Given the description of an element on the screen output the (x, y) to click on. 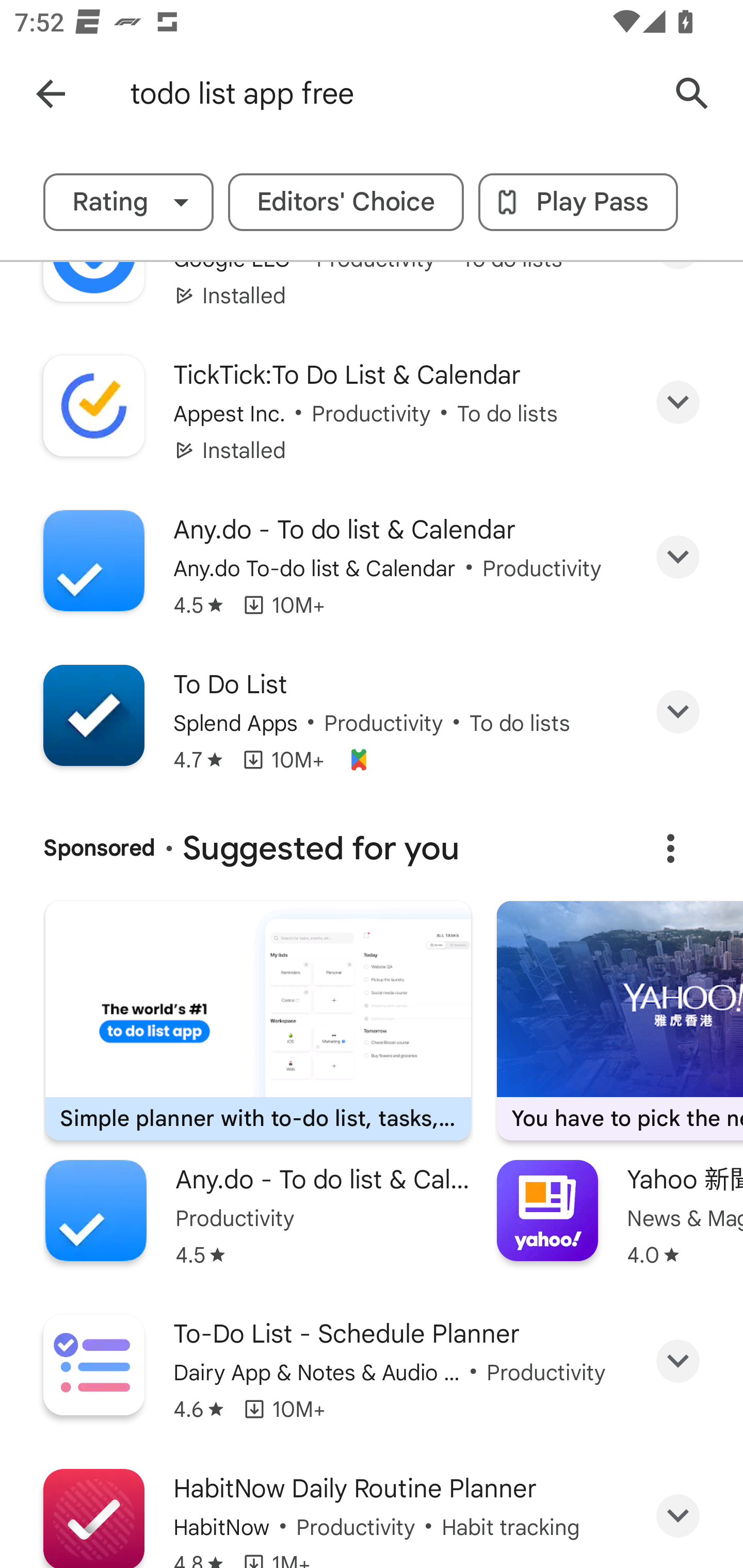
todo list app free (389, 93)
Navigate up (50, 93)
Search Google Play (692, 93)
Rating - double tap to change the filter (128, 202)
Editors' Choice - double tap to toggle the filter (345, 202)
Play Pass - double tap to toggle the filter (577, 202)
Expand content for TickTick:To Do List & Calendar (677, 402)
Expand content for Any.do - To do list & Calendar (677, 557)
Expand content for To Do List (677, 711)
About this ad (670, 848)
Expand content for To-Do List - Schedule Planner (677, 1360)
Expand content for HabitNow Daily Routine Planner (677, 1515)
